Given the description of an element on the screen output the (x, y) to click on. 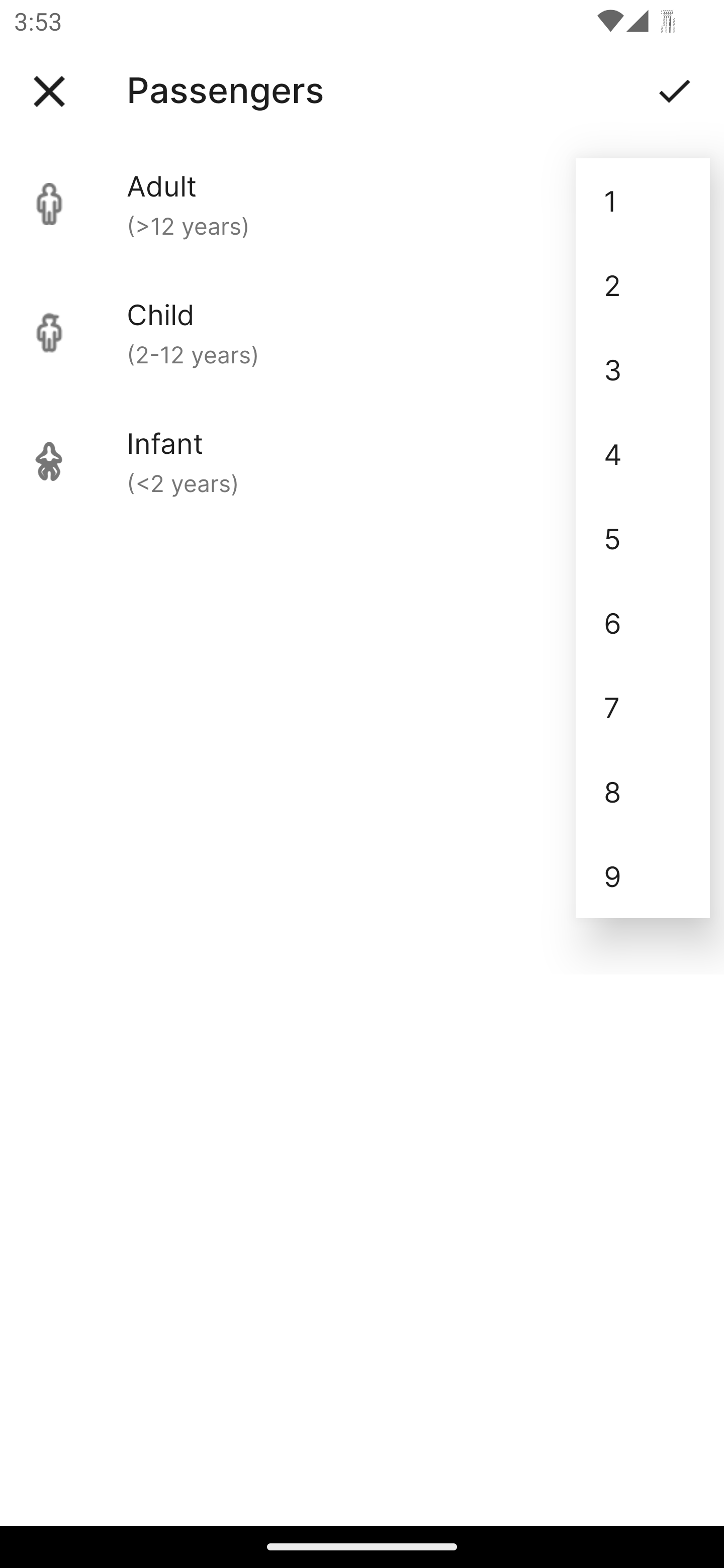
1 (642, 200)
2 (642, 285)
3 (642, 368)
4 (642, 452)
5 (642, 537)
6 (642, 622)
7 (642, 706)
8 (642, 791)
9 (642, 876)
